Given the description of an element on the screen output the (x, y) to click on. 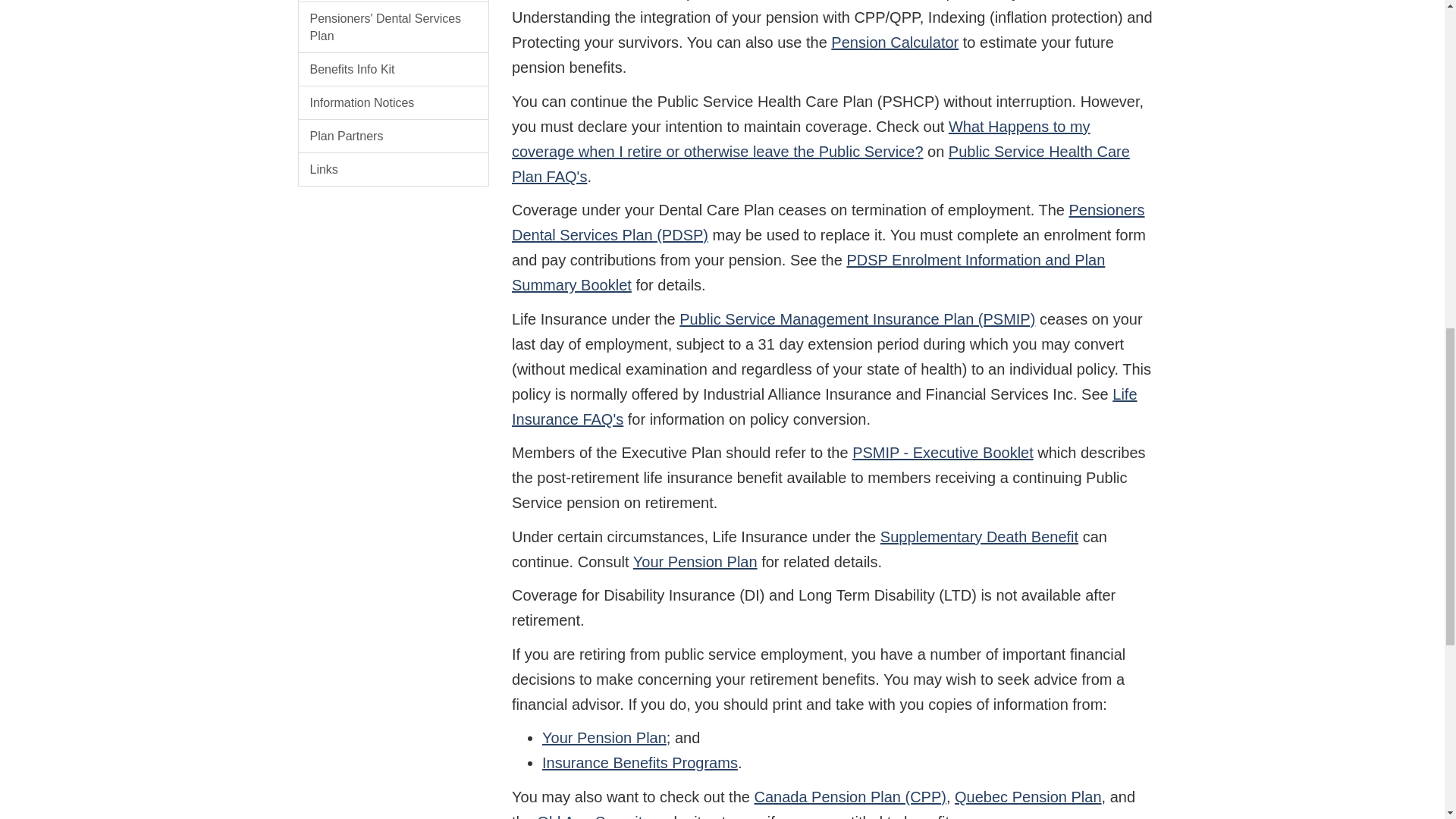
Public Service Management Insurance Plan (393, 1)
Insurance Benefits Programs (639, 762)
Old Age Security (593, 816)
Life Insurance FAQ's (824, 406)
Pension Calculator (894, 42)
Quebec Pension Plan (1027, 796)
PDSP Enrolment Information and Plan Summary Booklet (808, 272)
Supplementary Death Benefit (979, 536)
